Given the description of an element on the screen output the (x, y) to click on. 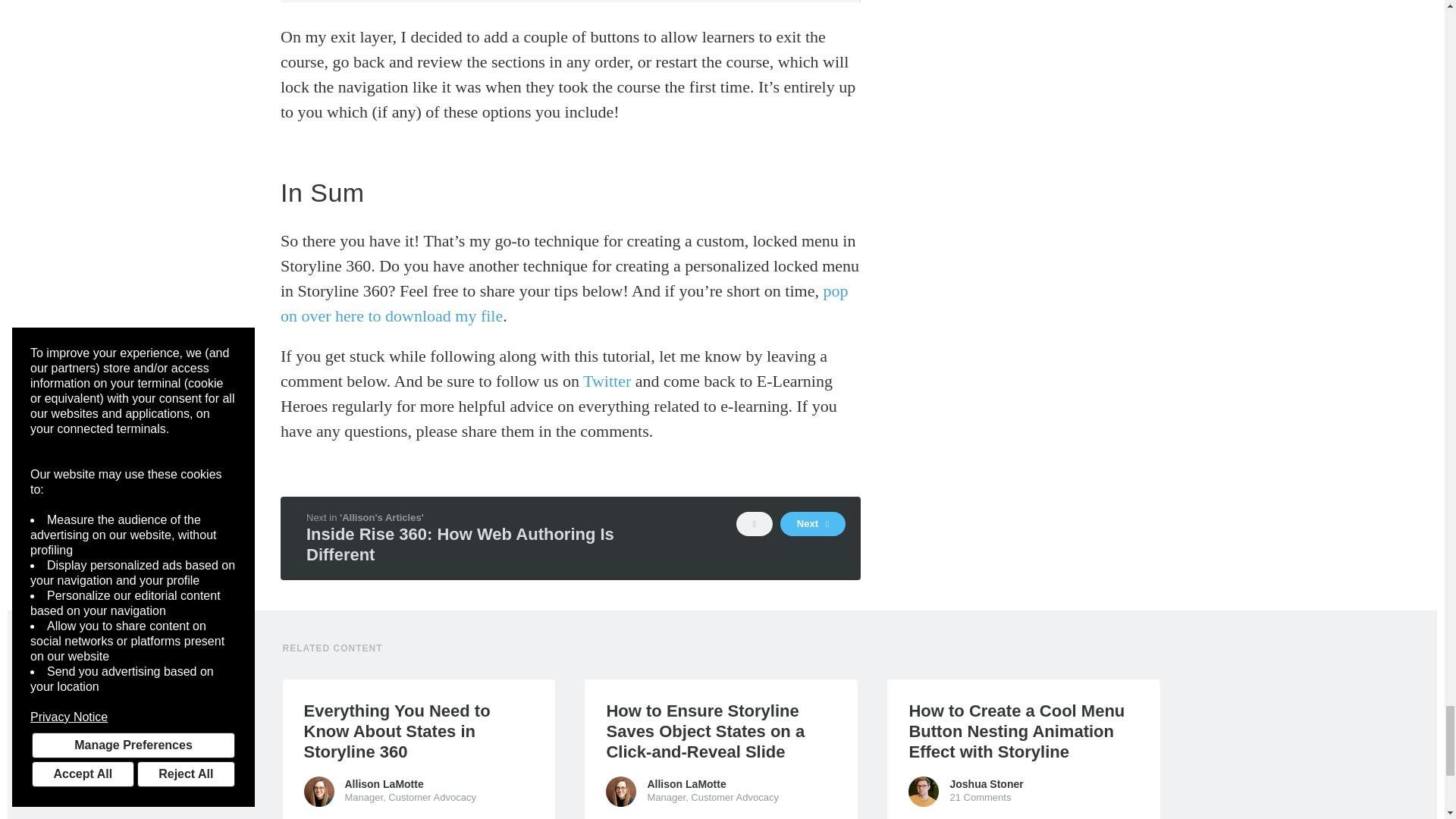
Allison LaMotte (620, 791)
Everything You Need to Know About States in Storyline 360 (418, 731)
Joshua Stoner (923, 791)
Allison LaMotte (317, 791)
